Given the description of an element on the screen output the (x, y) to click on. 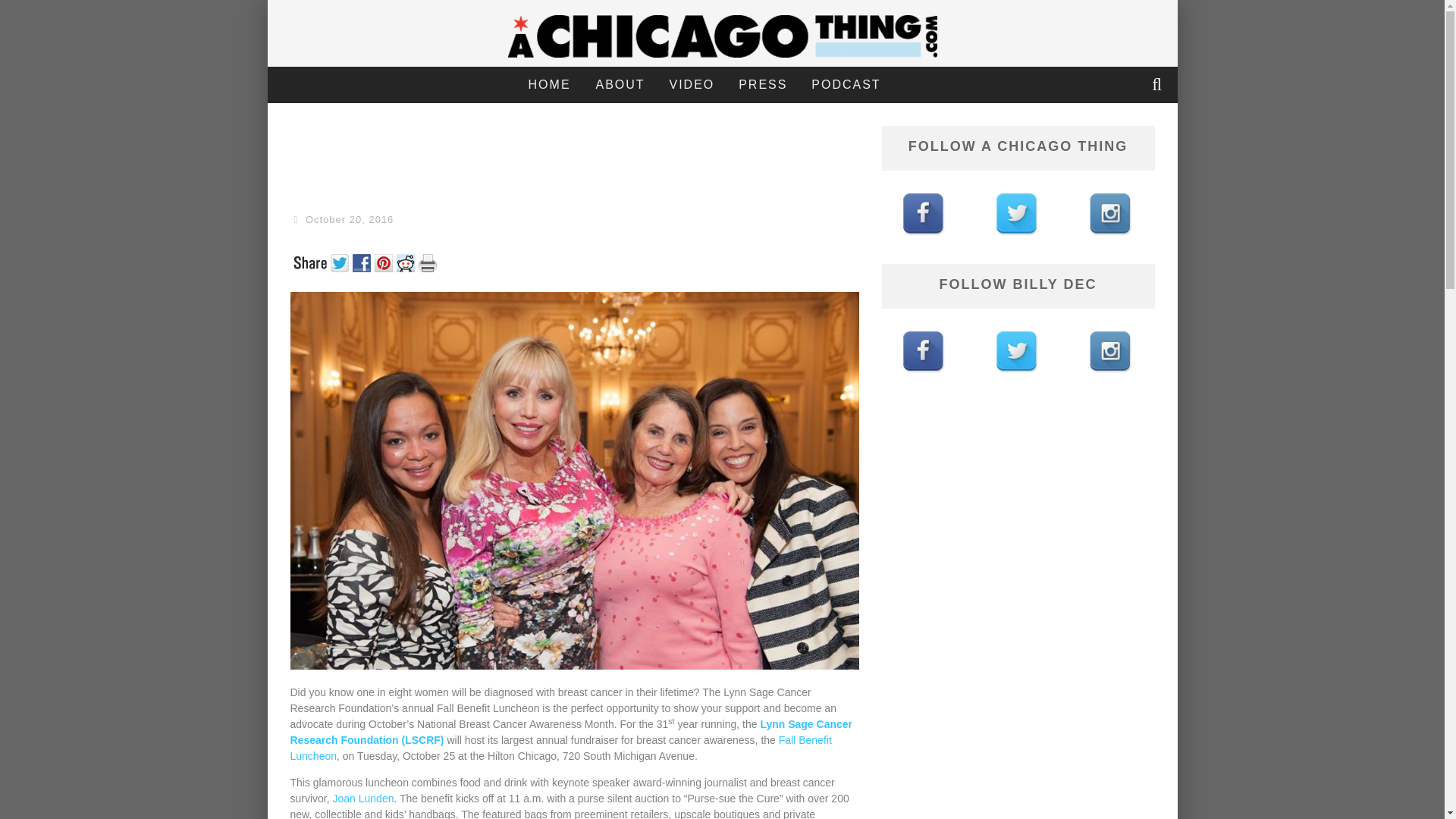
Twitter (341, 268)
Facebook (363, 260)
Search (1158, 84)
ABOUT (619, 84)
Print (430, 260)
PRESS (761, 84)
HOME (549, 84)
Facebook (363, 268)
Pinterest (385, 260)
Joan Lunden (363, 798)
